Given the description of an element on the screen output the (x, y) to click on. 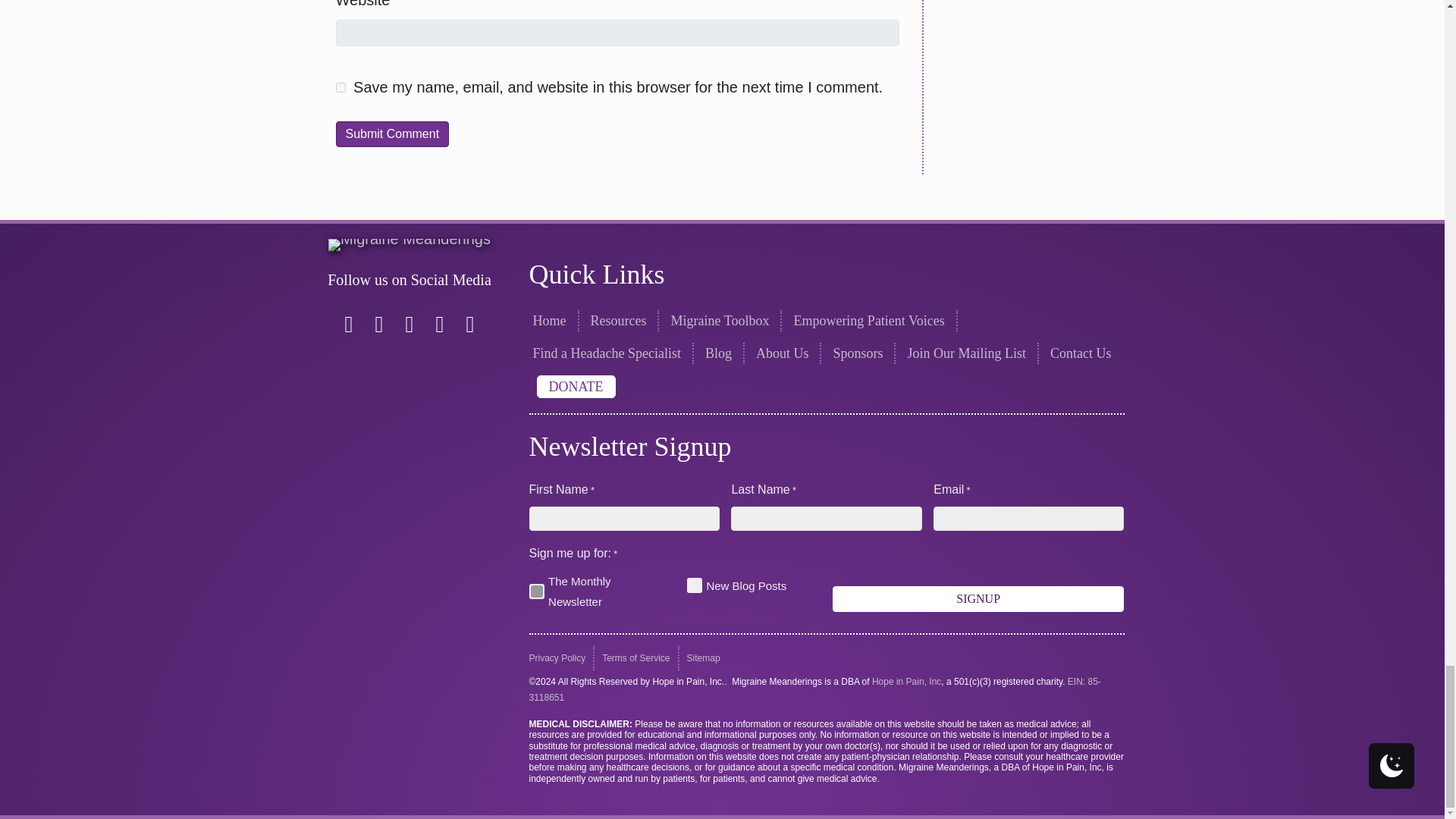
Submit Comment (391, 133)
yes (339, 87)
YouTube (469, 324)
SIGNUP (978, 598)
Facebook (348, 324)
Instagram (379, 324)
Pinterest (439, 324)
Newsletter (536, 590)
Posts (694, 585)
Twitter (409, 324)
